Given the description of an element on the screen output the (x, y) to click on. 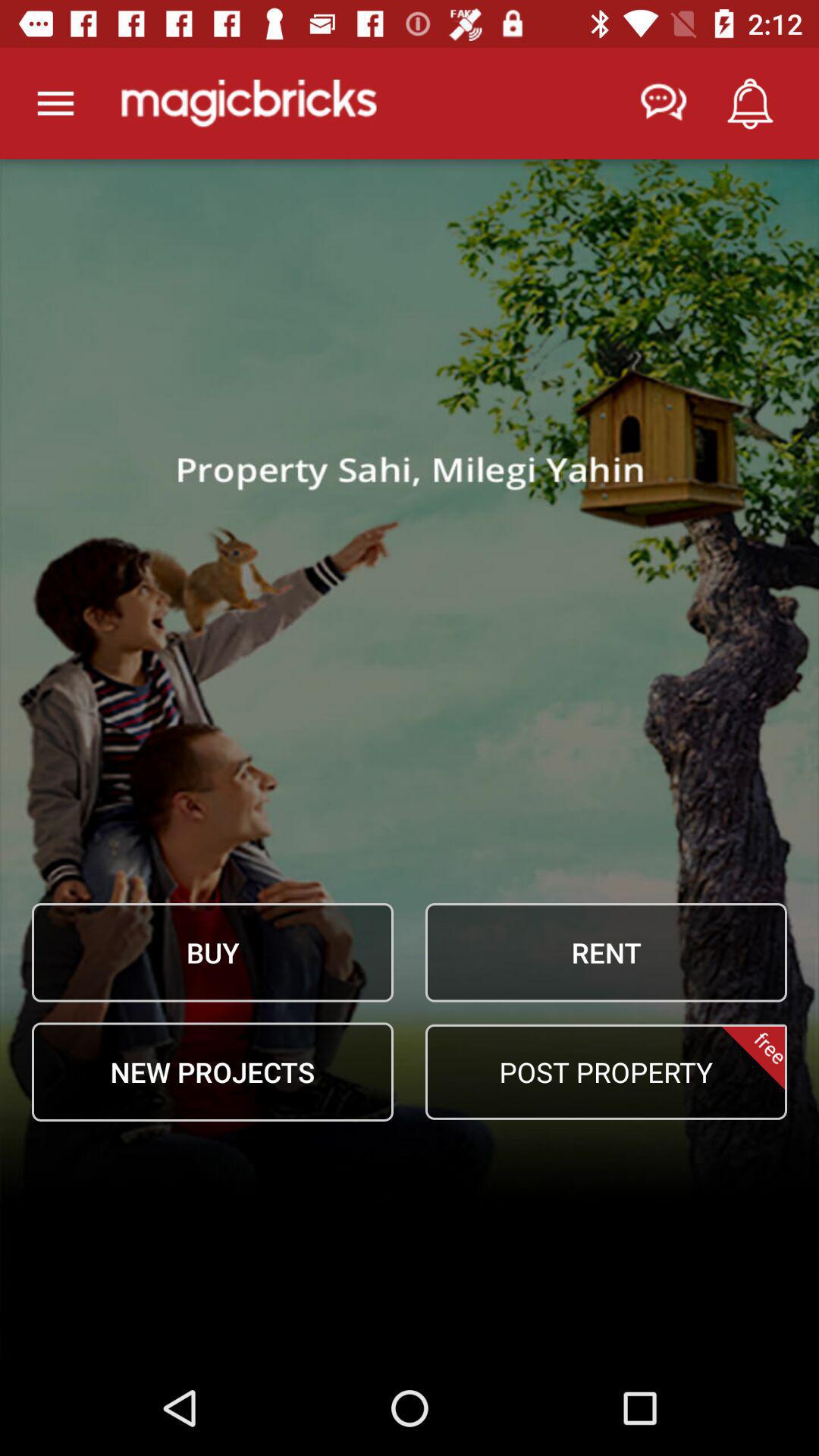
click the icon next to the post property icon (212, 1071)
